Given the description of an element on the screen output the (x, y) to click on. 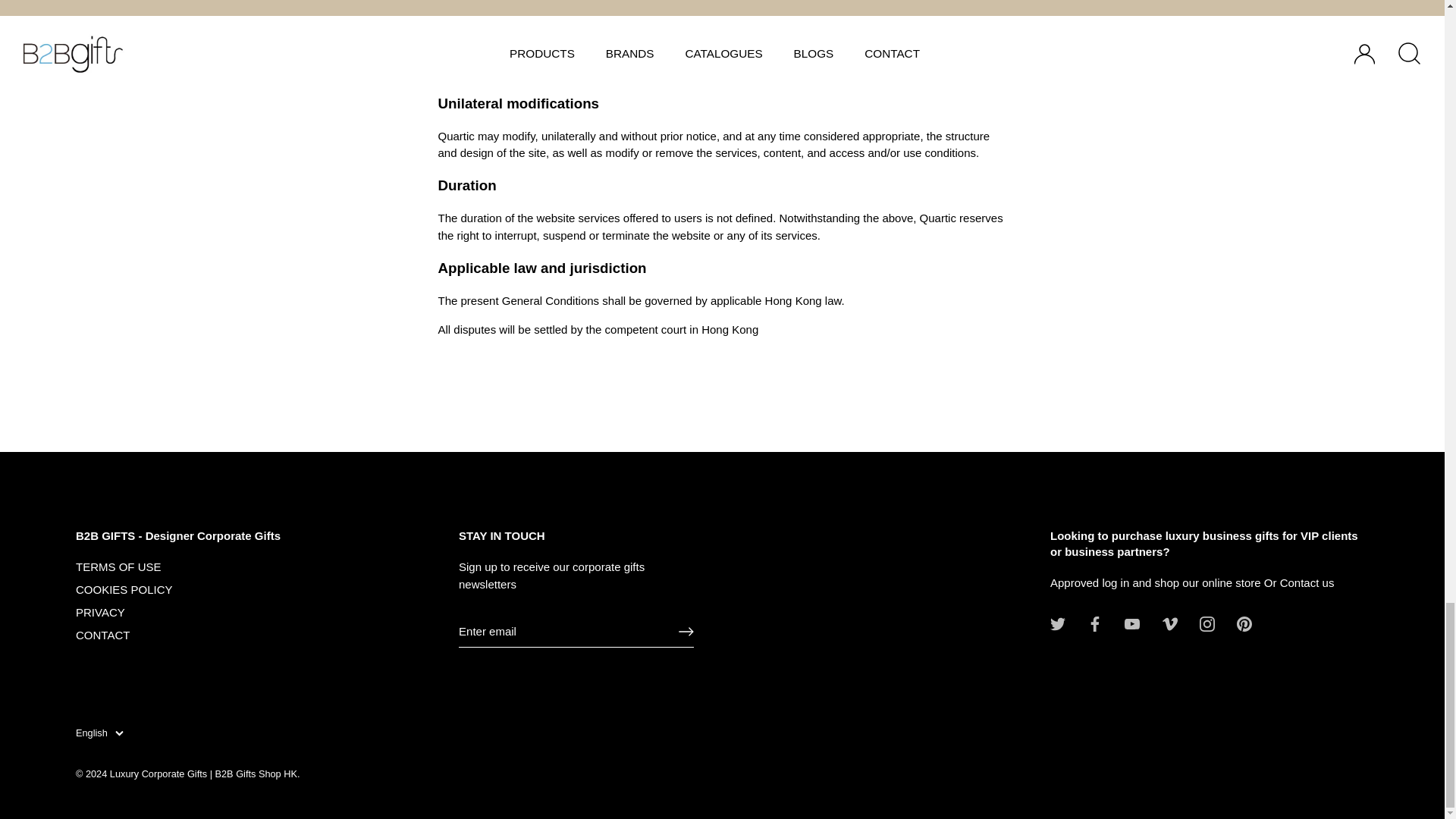
RIGHT ARROW LONG (686, 631)
Youtube (1132, 623)
Instagram (1206, 623)
Pinterest (1244, 623)
Twitter (1057, 623)
Vimeo (1169, 623)
